Given the description of an element on the screen output the (x, y) to click on. 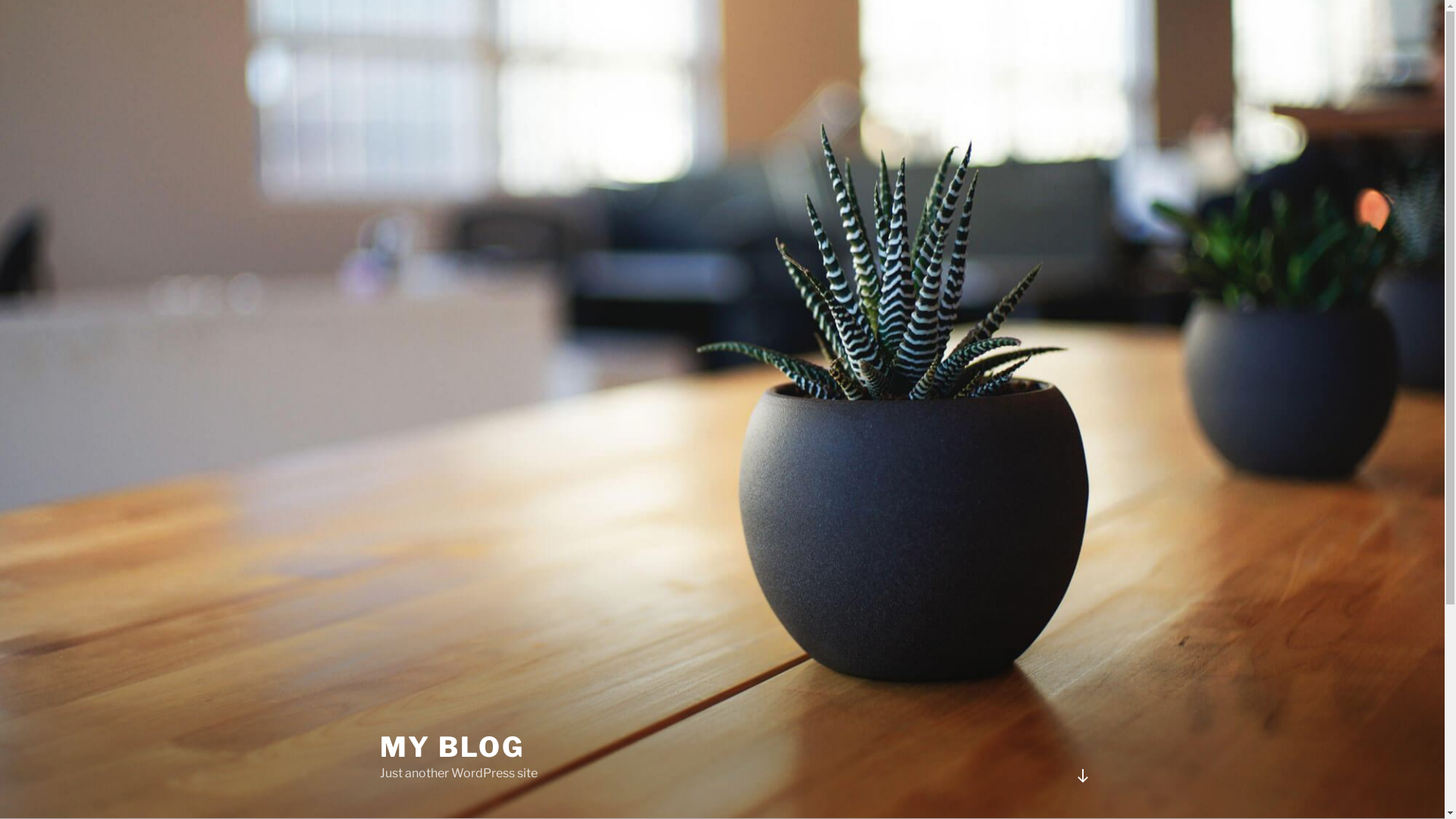
Skip to content Element type: text (0, 0)
Scroll down to content Element type: text (1082, 775)
MY BLOG Element type: text (451, 746)
